Given the description of an element on the screen output the (x, y) to click on. 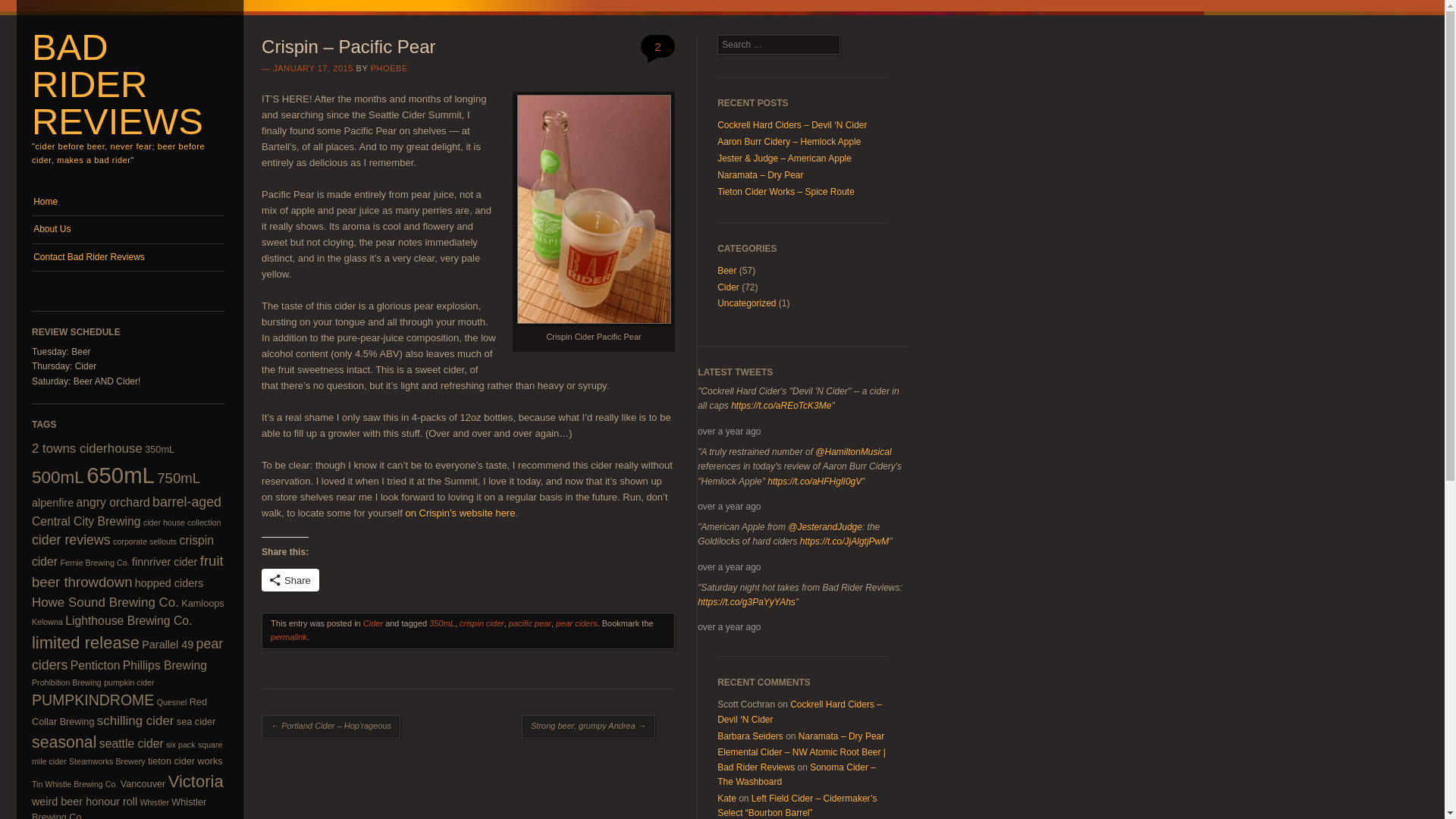
350mL (159, 449)
Penticton (94, 665)
schilling cider (135, 720)
Contact Bad Rider Reviews (128, 257)
Prohibition Brewing (66, 682)
corporate sellouts (144, 541)
cider reviews (71, 539)
crispin cider (123, 550)
Crispin Cider (459, 512)
pumpkin cider (128, 682)
